Given the description of an element on the screen output the (x, y) to click on. 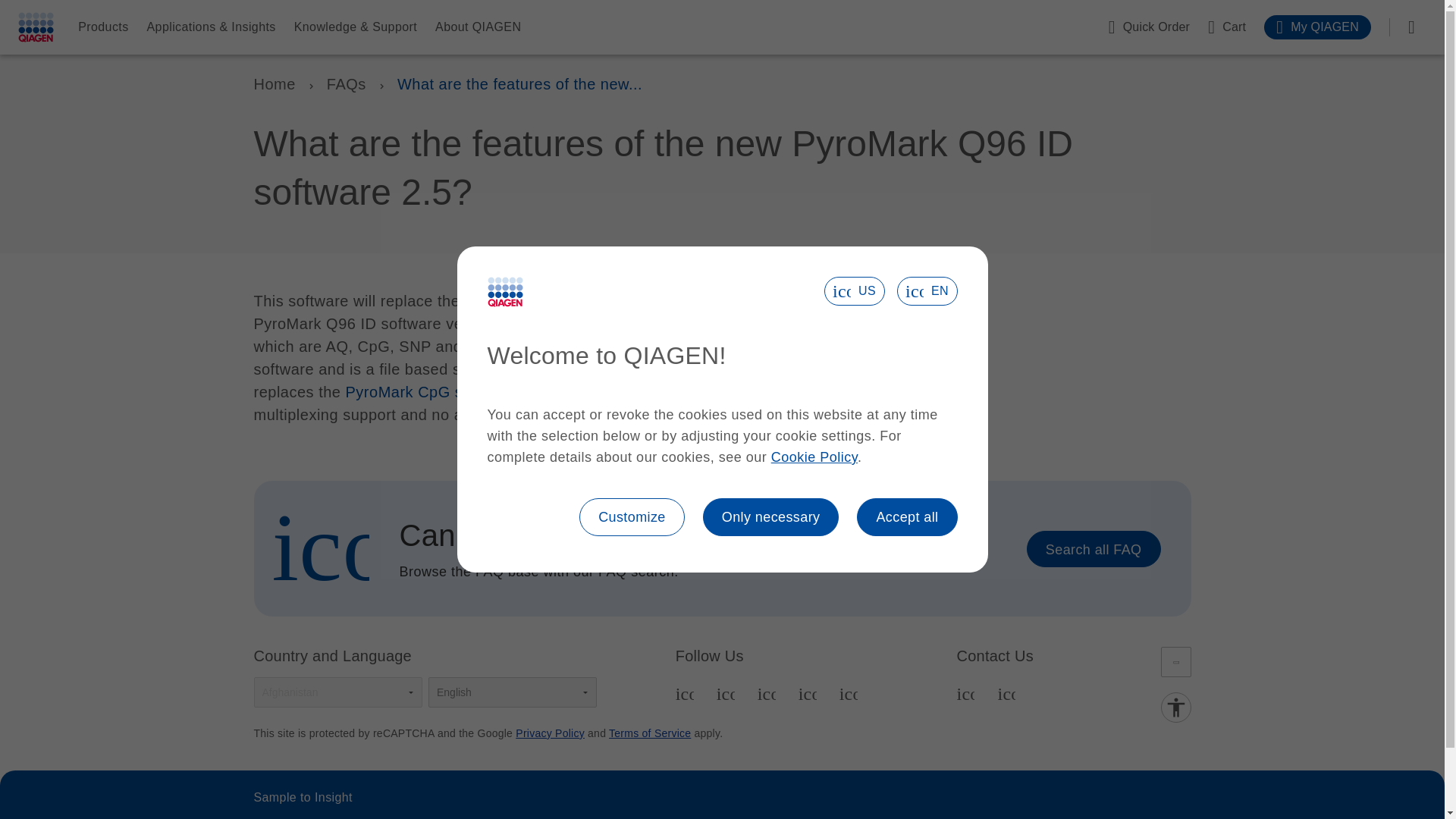
PyroMark Q96 ID (551, 300)
Cookie Policy (814, 457)
Customize (631, 516)
Products (103, 27)
Quick Order (1148, 27)
About QIAGEN (478, 27)
My QIAGEN (1317, 27)
Cart (1227, 27)
About QIAGEN (478, 27)
Only necessary (771, 516)
